Given the description of an element on the screen output the (x, y) to click on. 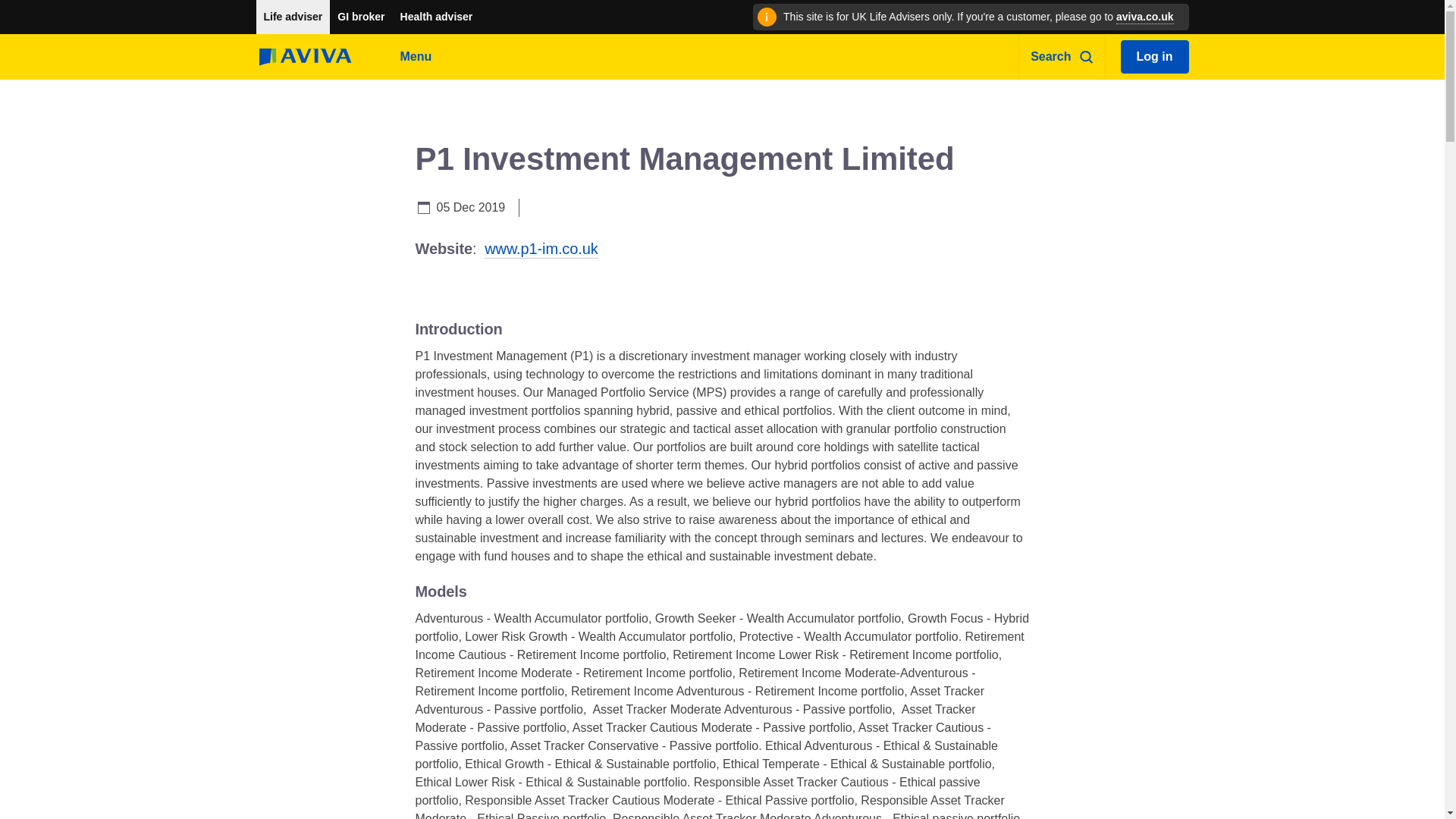
aviva.co.uk (1144, 17)
Search (1061, 56)
Health adviser (436, 17)
opens an external site in a new window (540, 249)
Log in (1155, 56)
Go to our UK direct customer website (1144, 17)
www.p1-im.co.uk (540, 249)
GI broker (360, 17)
